Given the description of an element on the screen output the (x, y) to click on. 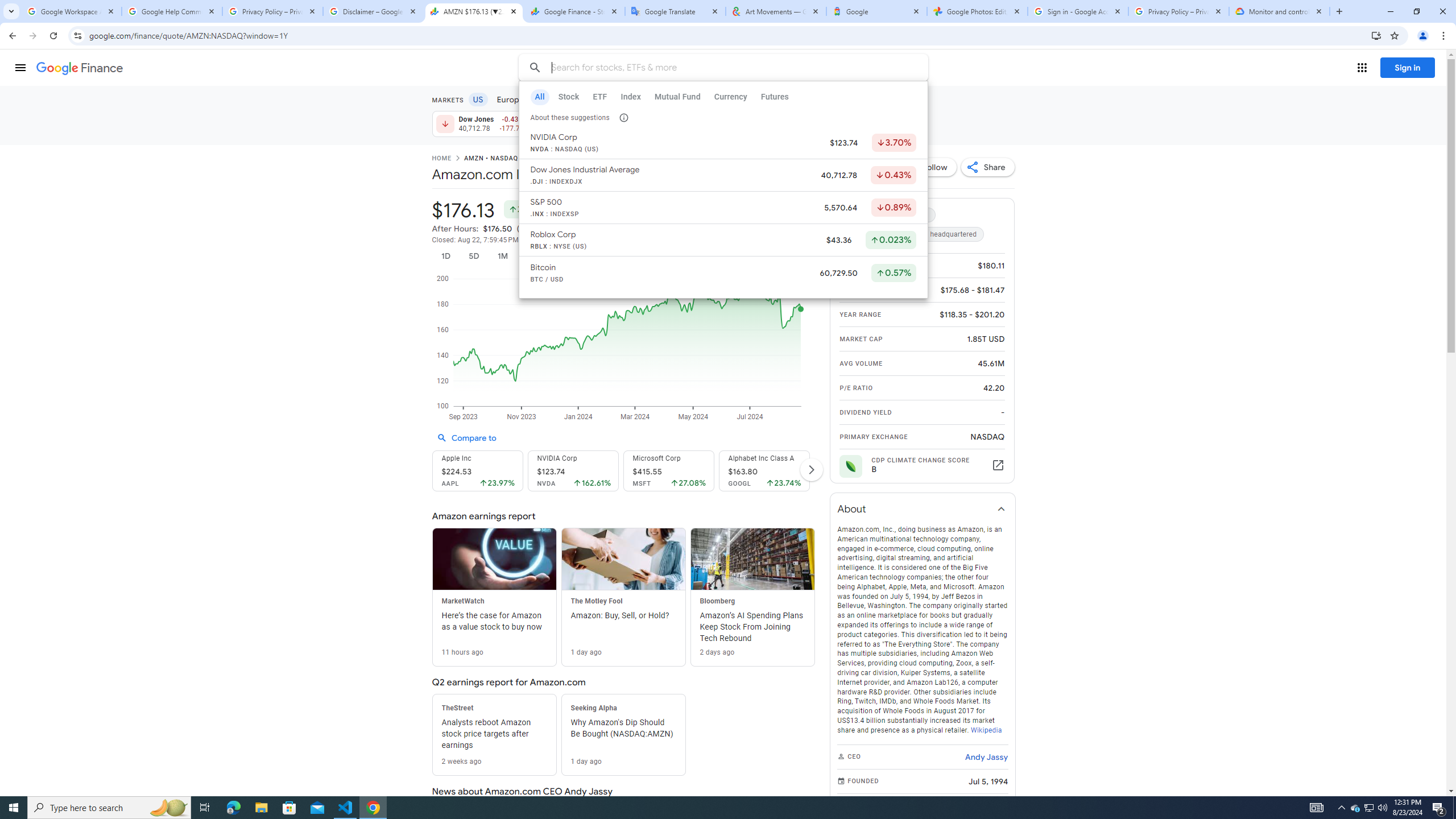
Mutual Fund (676, 96)
Most active (871, 214)
Crypto (636, 99)
YTD (563, 255)
Nasdaq 17,619.35 Down by 1.67% -299.63 (678, 123)
US (477, 99)
1M (501, 255)
